Given the description of an element on the screen output the (x, y) to click on. 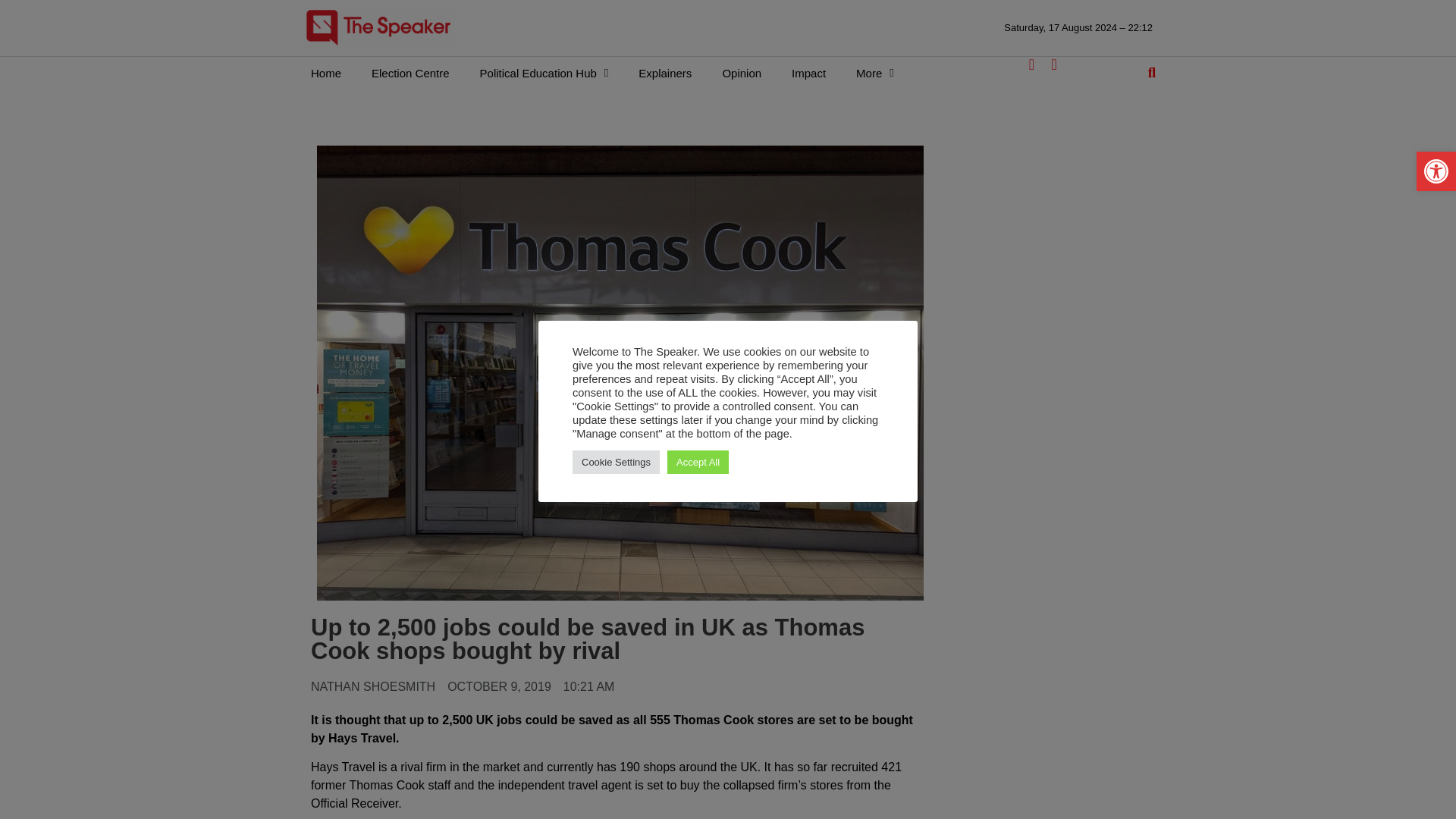
The Speaker (378, 27)
Impact (808, 73)
Election Centre (410, 73)
More (874, 73)
Explainers (664, 73)
Home (325, 73)
Political Education Hub (544, 73)
Opinion (741, 73)
Accessibility Tools (1435, 170)
